Given the description of an element on the screen output the (x, y) to click on. 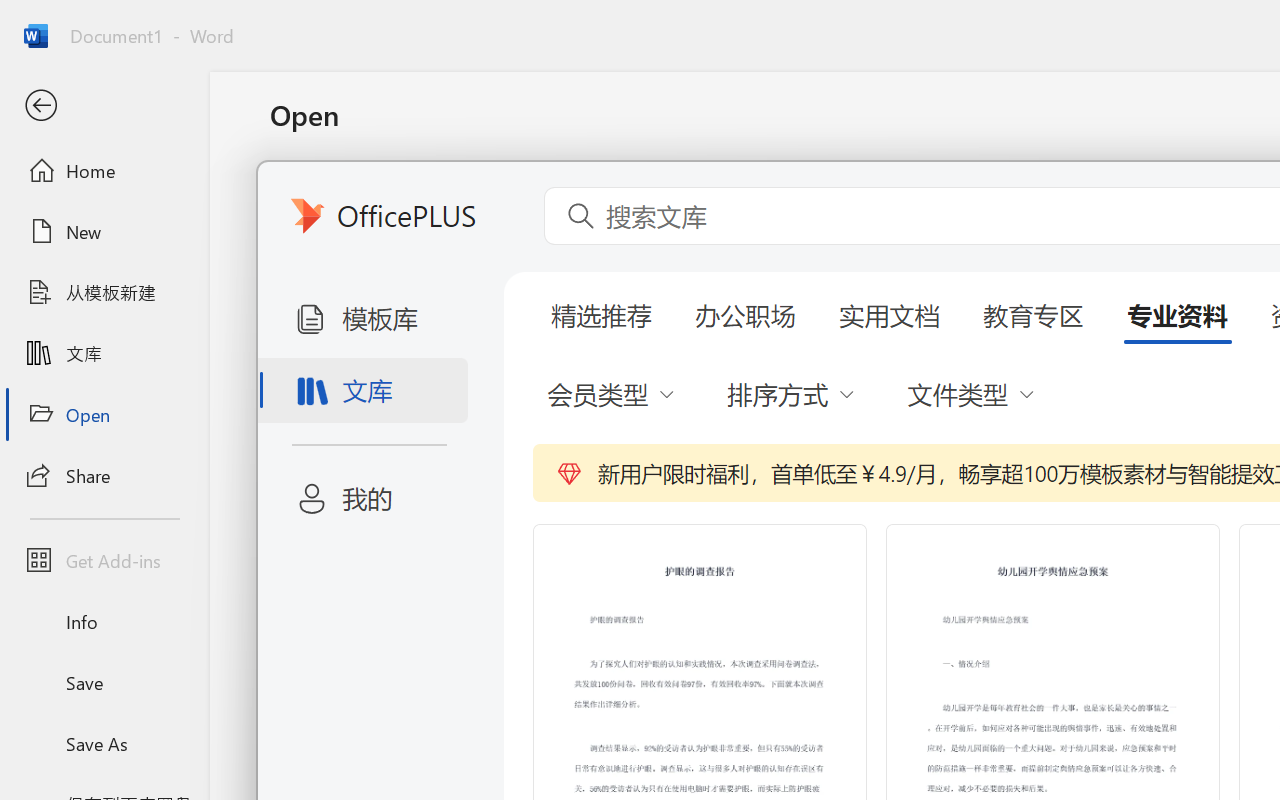
New (104, 231)
Info (104, 621)
Back (104, 106)
